Given the description of an element on the screen output the (x, y) to click on. 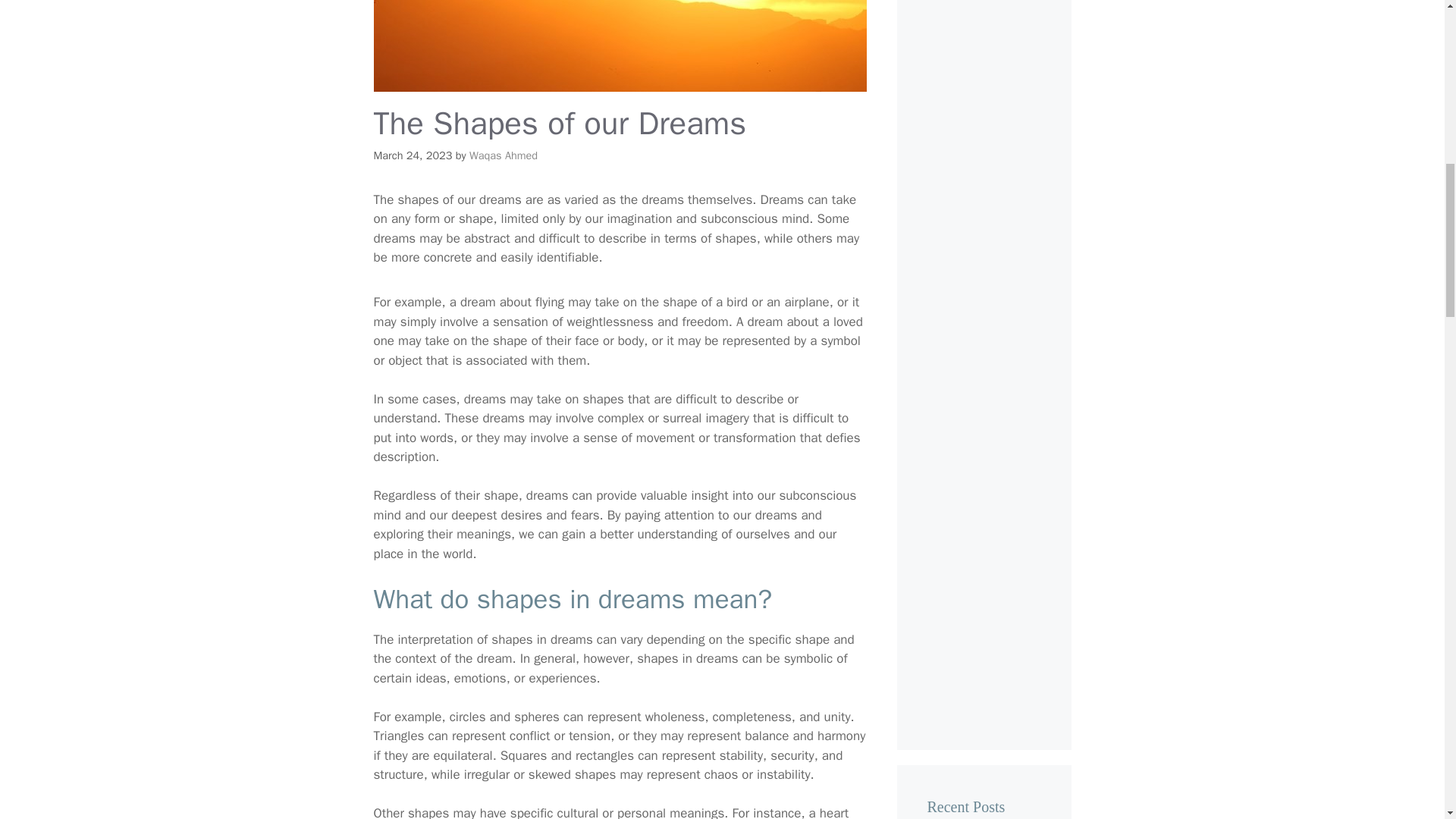
View all posts by Waqas Ahmed (502, 155)
Scroll back to top (1406, 720)
Waqas Ahmed (502, 155)
